Given the description of an element on the screen output the (x, y) to click on. 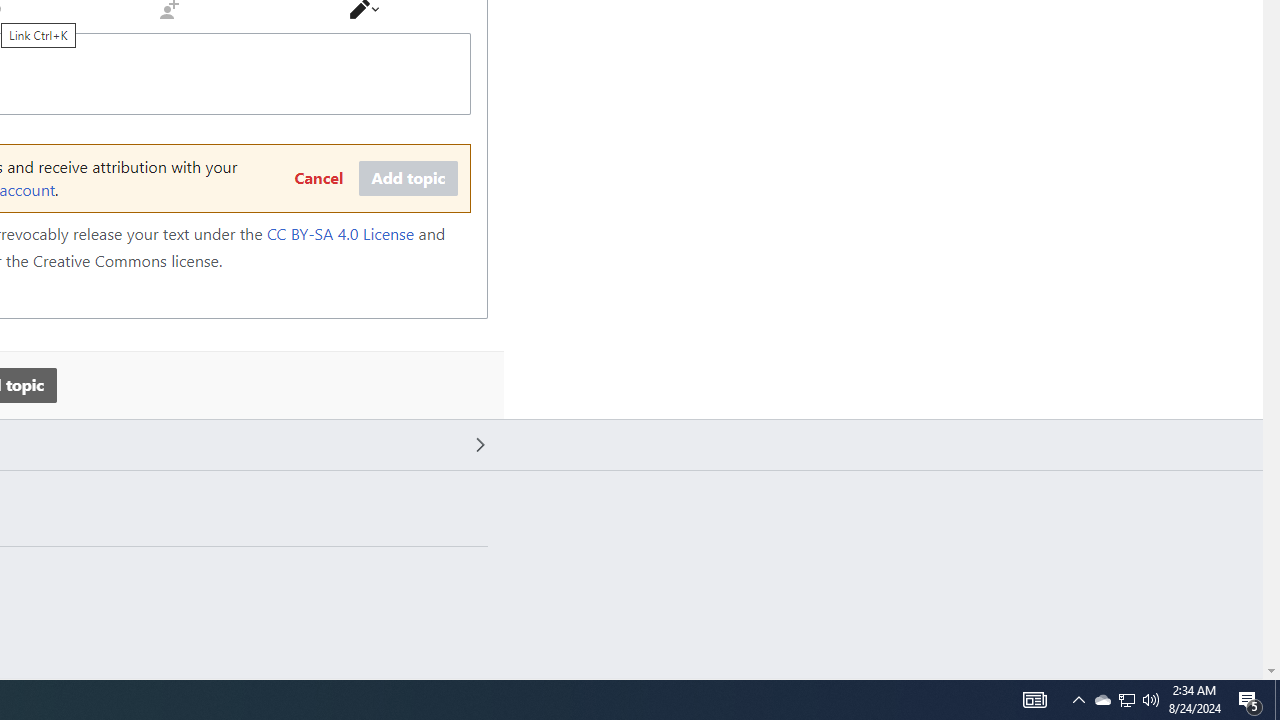
Cancel (318, 179)
CC BY-SA 4.0 License (340, 233)
Add topic (408, 179)
